Given the description of an element on the screen output the (x, y) to click on. 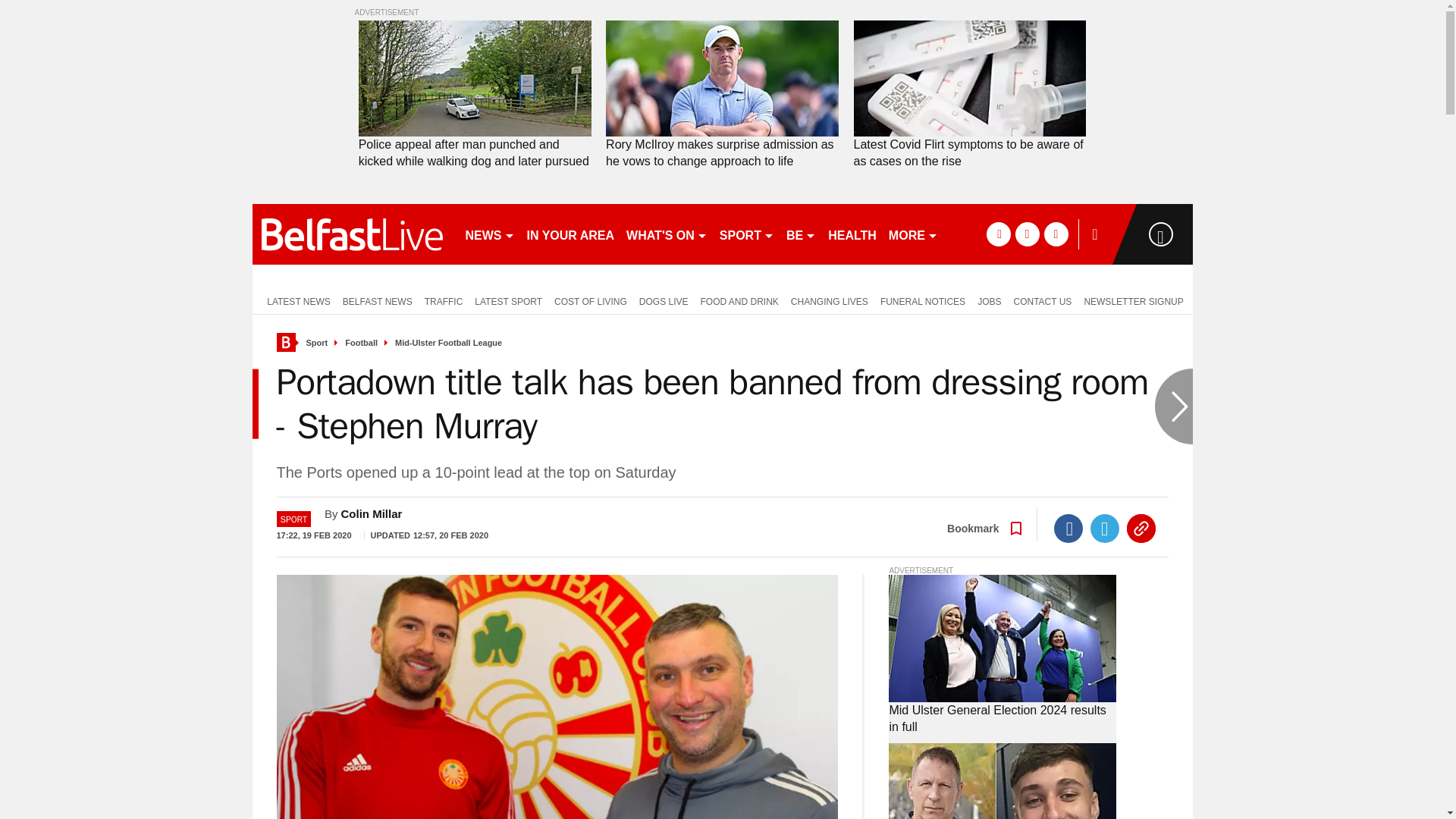
twitter (1026, 233)
IN YOUR AREA (569, 233)
Facebook (1068, 528)
instagram (1055, 233)
facebook (997, 233)
WHAT'S ON (666, 233)
Twitter (1104, 528)
belfastlive (351, 233)
NEWS (490, 233)
